Given the description of an element on the screen output the (x, y) to click on. 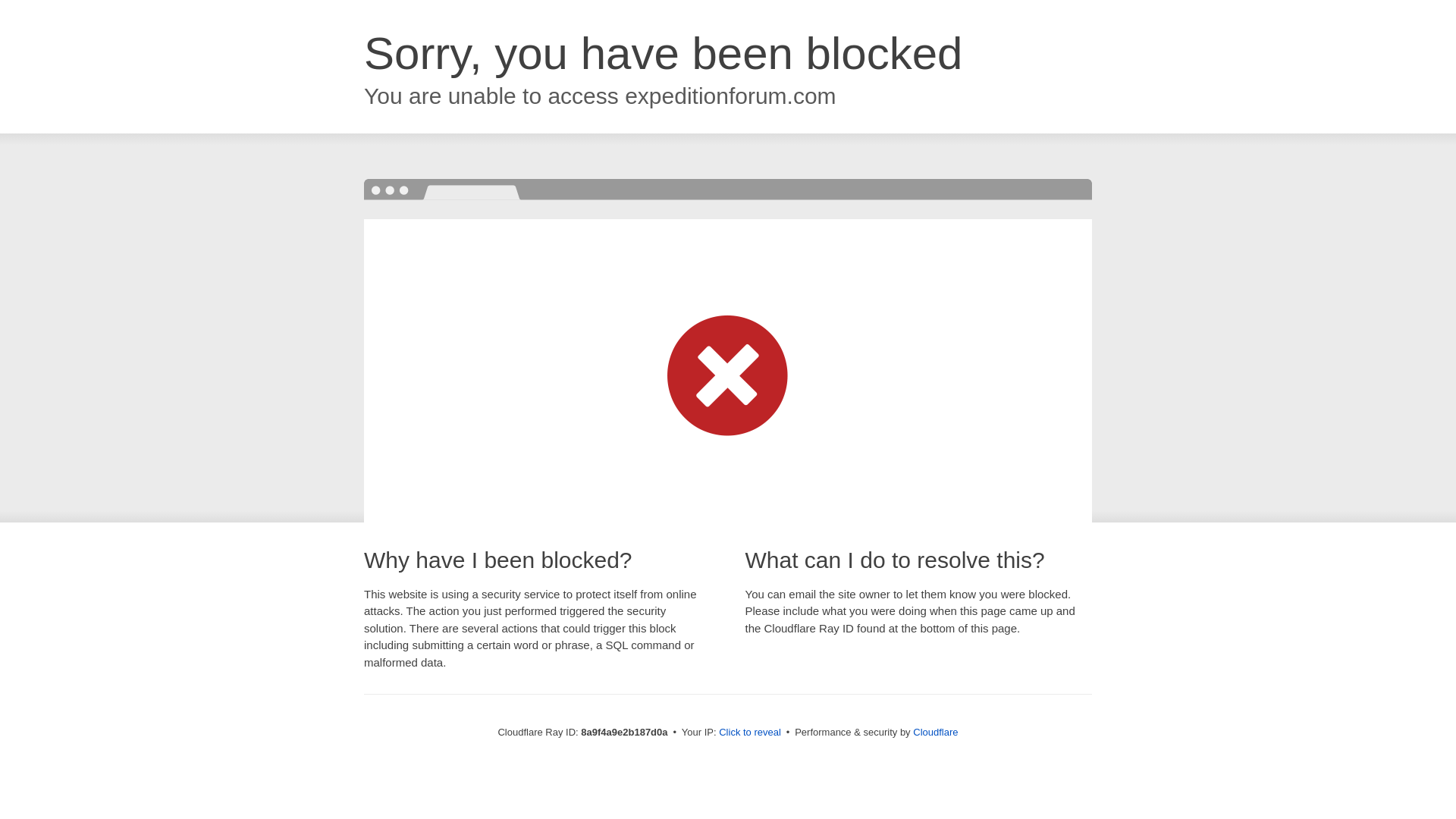
Click to reveal (749, 732)
Cloudflare (935, 731)
